Given the description of an element on the screen output the (x, y) to click on. 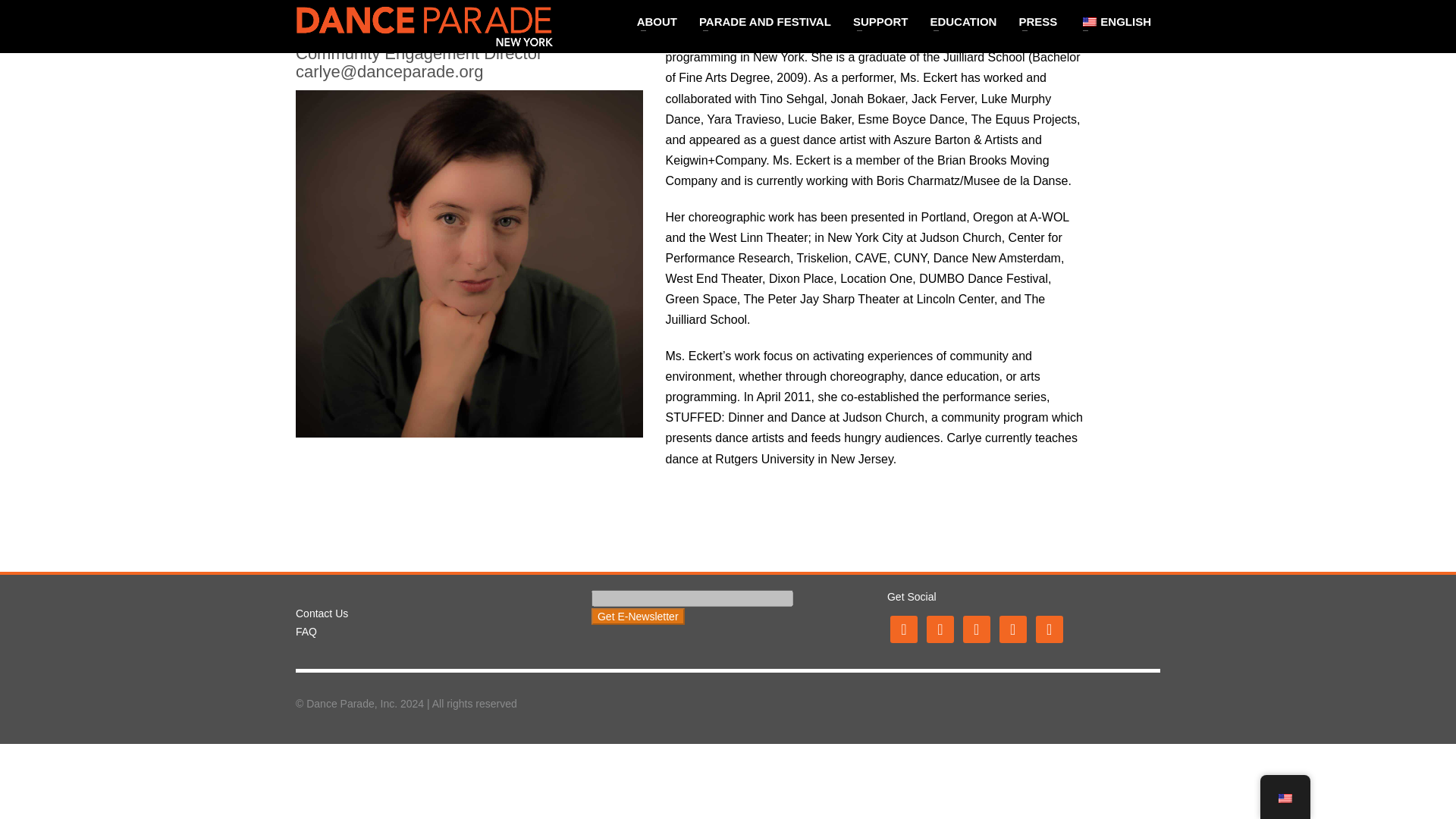
Facebook (903, 628)
SUPPORT (880, 21)
English (1089, 20)
FAQ (306, 631)
PARADE AND FESTIVAL (765, 21)
10,000 dancers on Broadway, NYC each May! (424, 26)
ENGLISH (1115, 21)
instagram (976, 628)
tiktok (1048, 628)
facebook (903, 628)
